Given the description of an element on the screen output the (x, y) to click on. 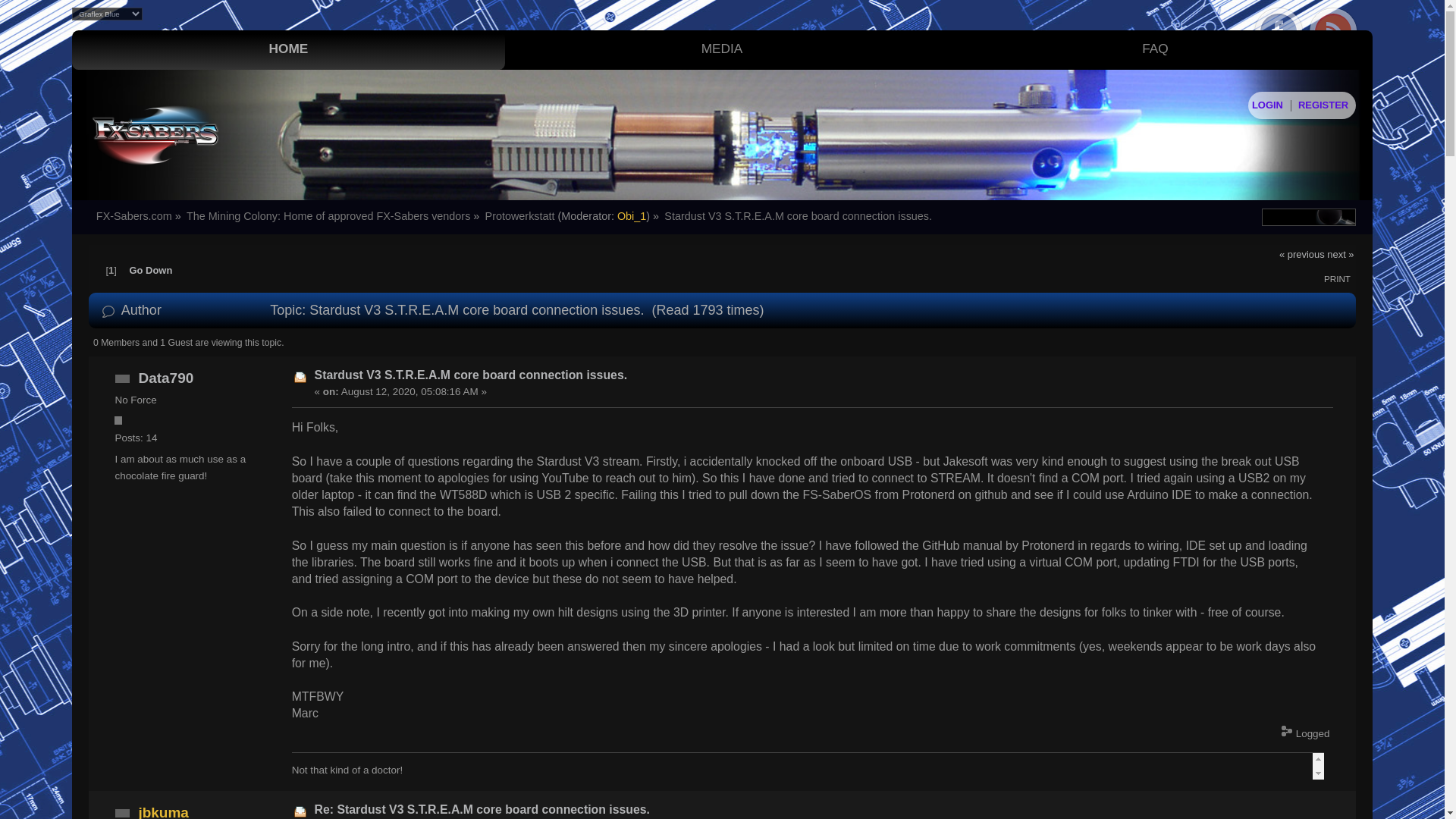
Protowerkstatt (519, 215)
HOME (288, 49)
FAQ (1156, 49)
Board Moderator (631, 215)
Media (722, 49)
PRINT (1337, 278)
Home (288, 49)
FAQ (1156, 49)
View the profile of Data790 (165, 377)
MEDIA (722, 49)
View the profile of jbkuma (163, 811)
FX-Sabers.com (133, 215)
LOGIN (1267, 104)
